Given the description of an element on the screen output the (x, y) to click on. 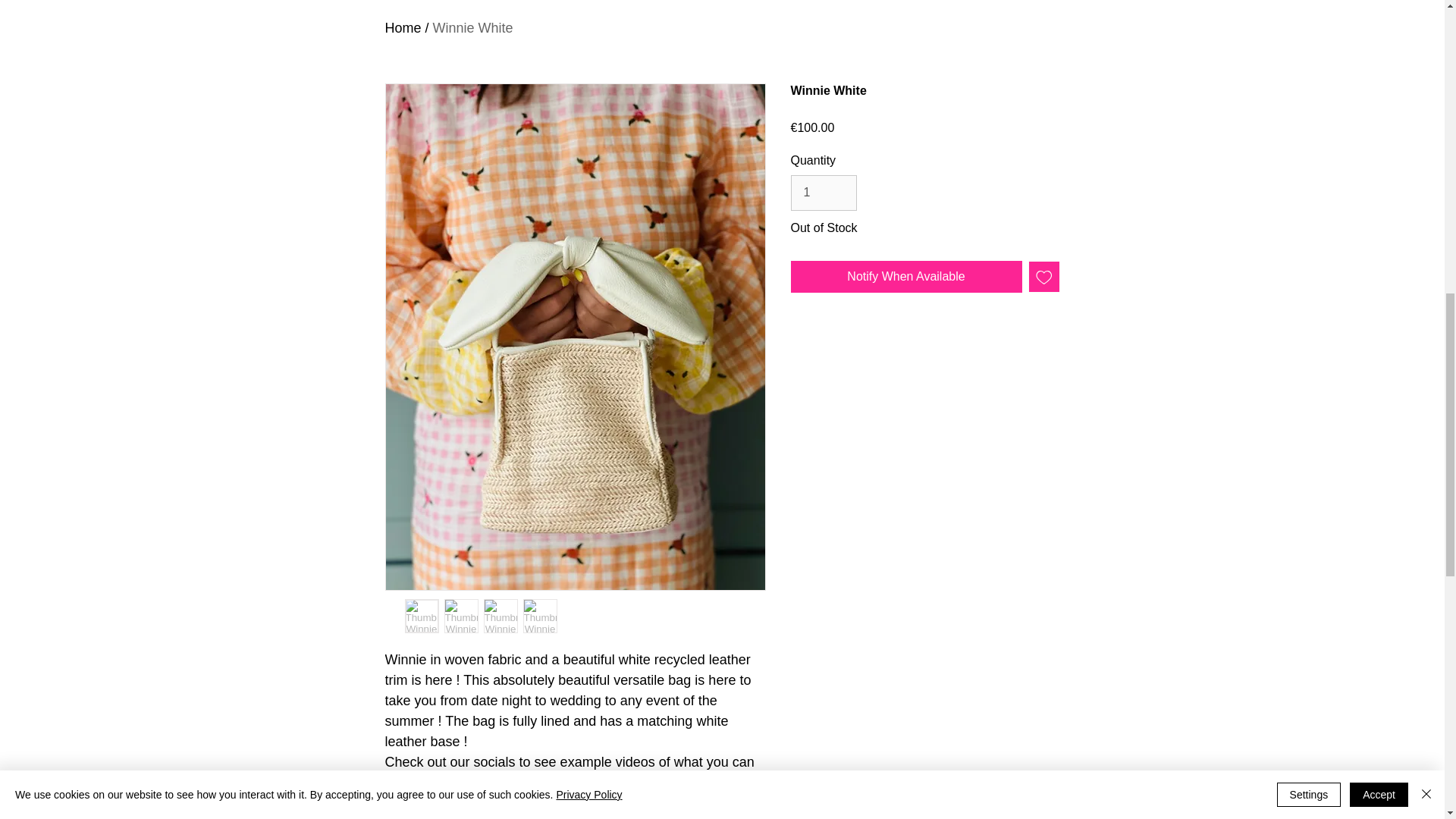
1 (823, 192)
Home (403, 28)
Winnie White (472, 28)
